Given the description of an element on the screen output the (x, y) to click on. 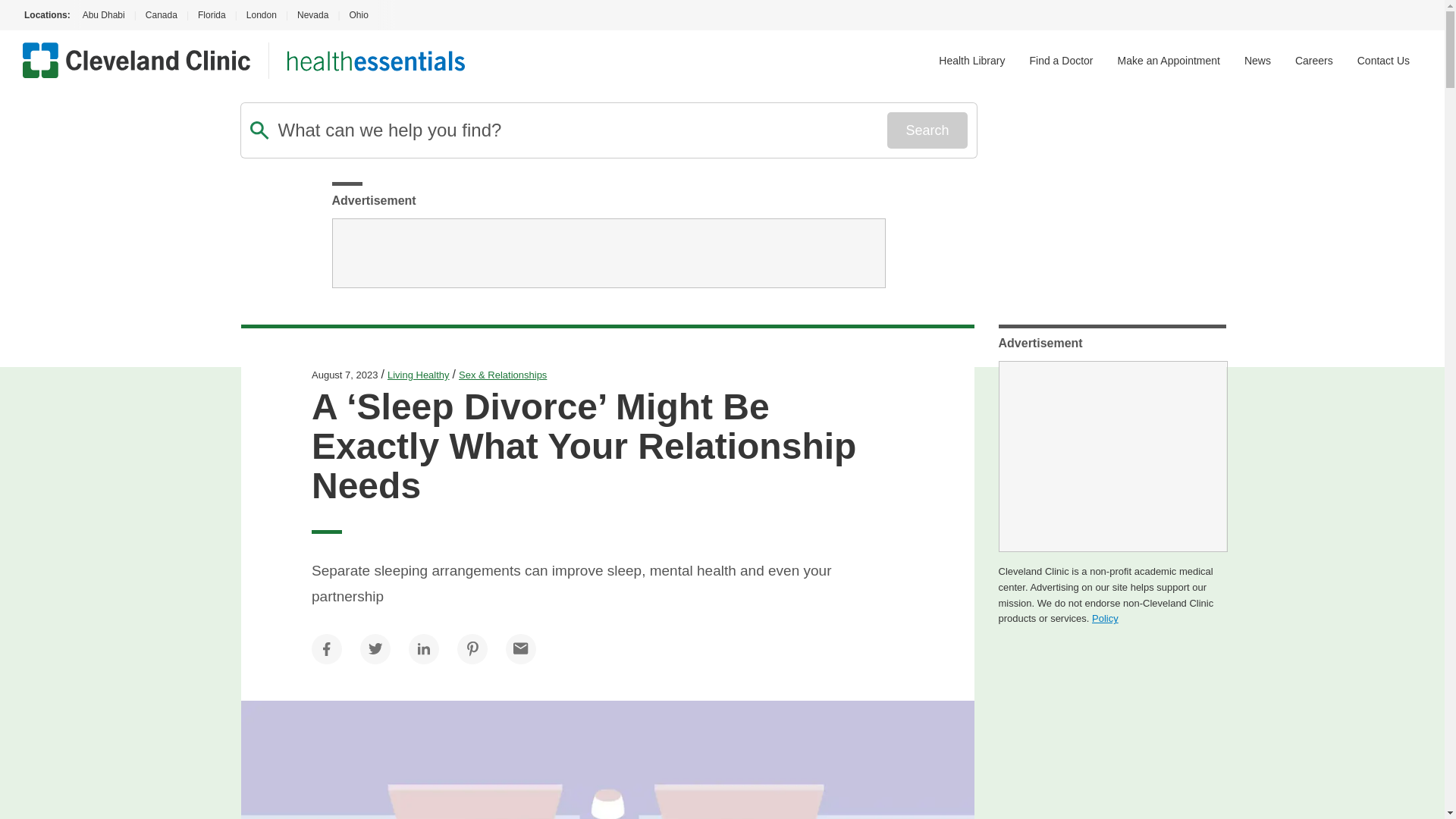
Florida (211, 15)
London (261, 15)
Abu Dhabi (101, 15)
News (1257, 60)
Careers (1314, 60)
Living Healthy (418, 374)
Contact Us (1382, 60)
Health Library (971, 60)
3rd party ad content (608, 253)
Canada (161, 15)
Nevada (312, 15)
Find a Doctor (1061, 60)
Ohio (358, 15)
3rd party ad content (1112, 456)
Make an Appointment (1169, 60)
